Given the description of an element on the screen output the (x, y) to click on. 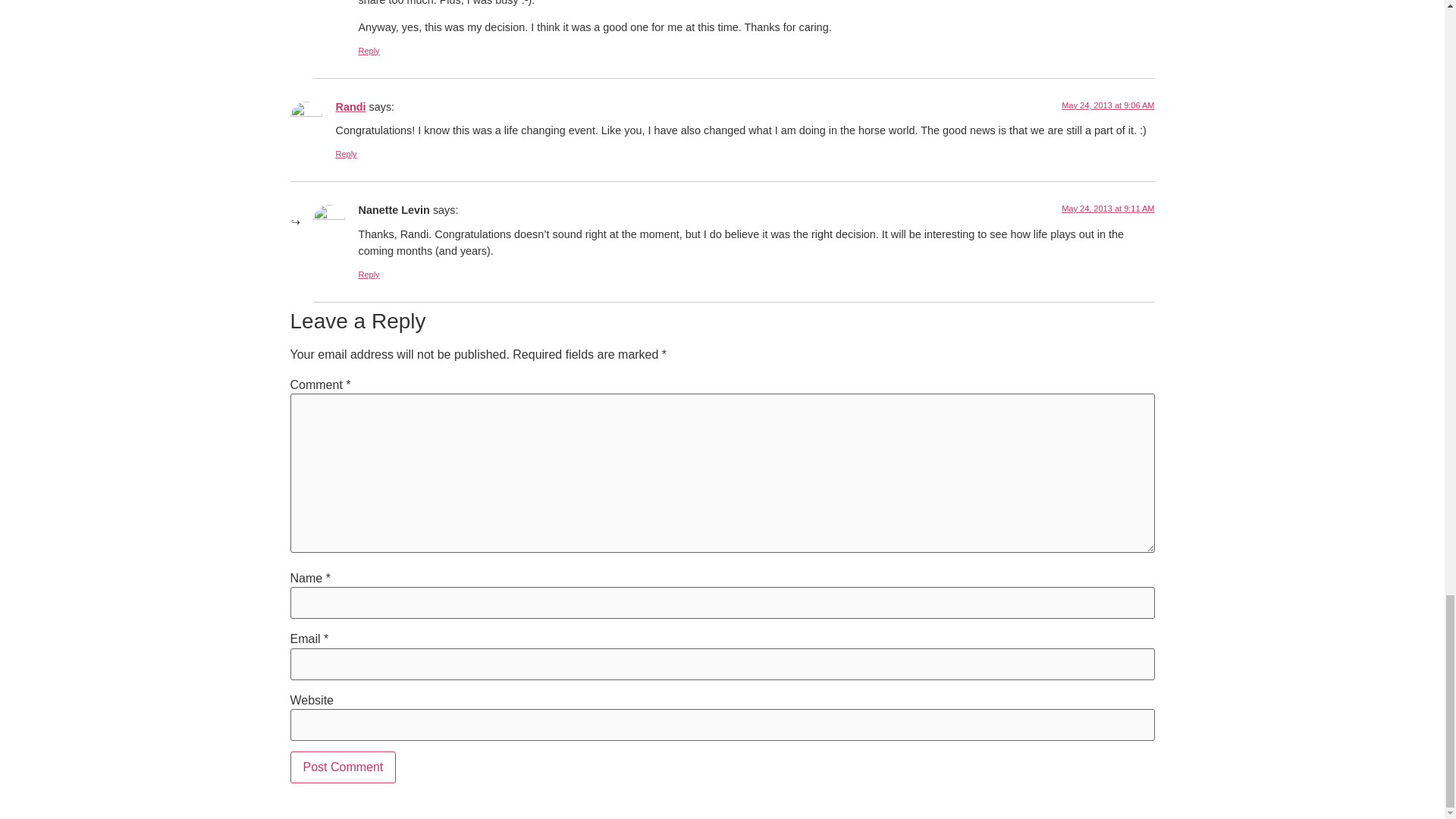
Randi (349, 106)
Post Comment (342, 766)
Post Comment (342, 766)
Reply (368, 274)
Reply (345, 153)
May 24, 2013 at 9:06 AM (1107, 104)
Reply (368, 50)
May 24, 2013 at 9:11 AM (1107, 207)
